Given the description of an element on the screen output the (x, y) to click on. 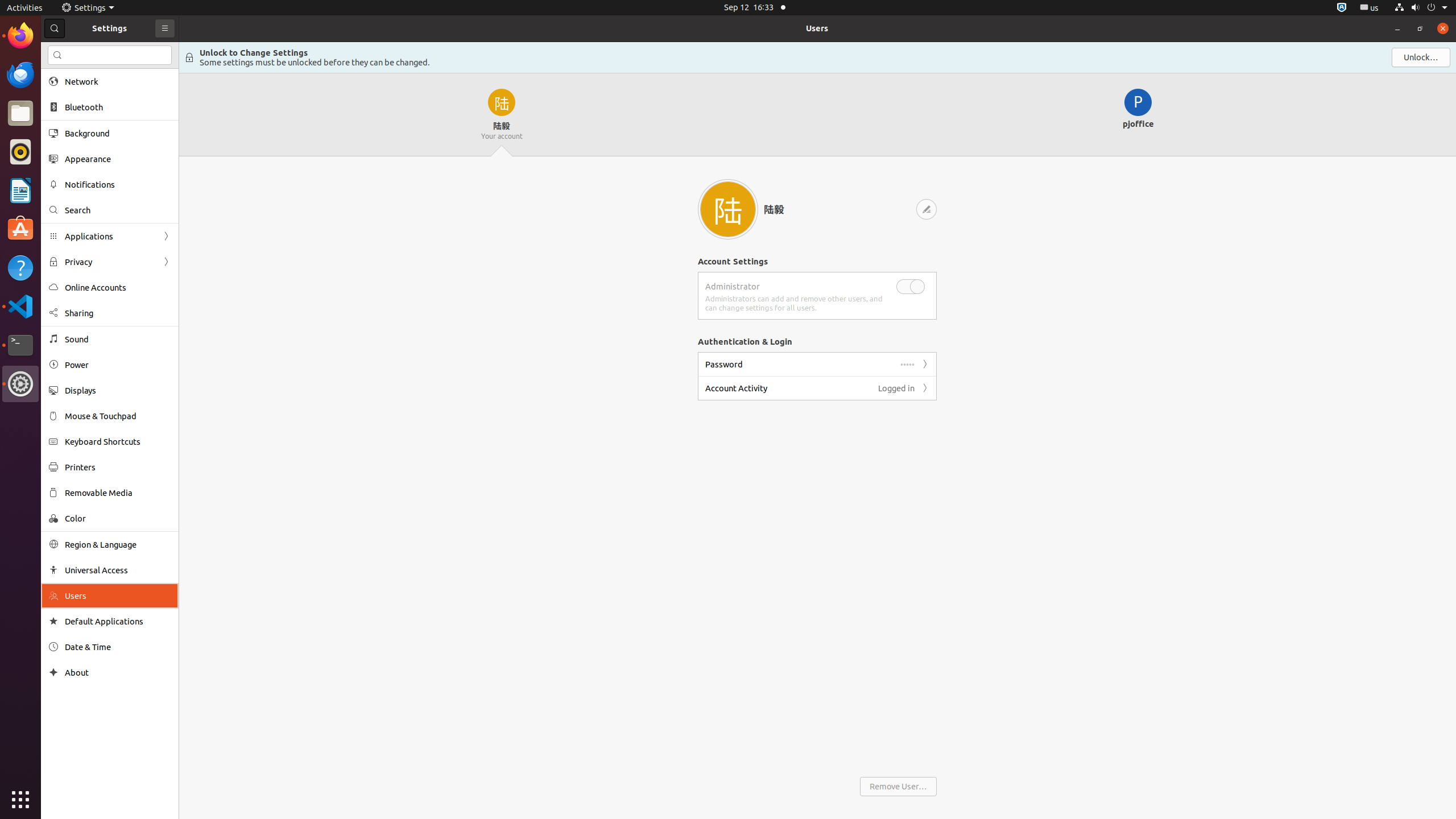
Minimize Element type: push-button (1397, 27)
About Element type: icon (53, 672)
Region & Language Element type: label (117, 544)
Firefox Web Browser Element type: push-button (20, 35)
